Given the description of an element on the screen output the (x, y) to click on. 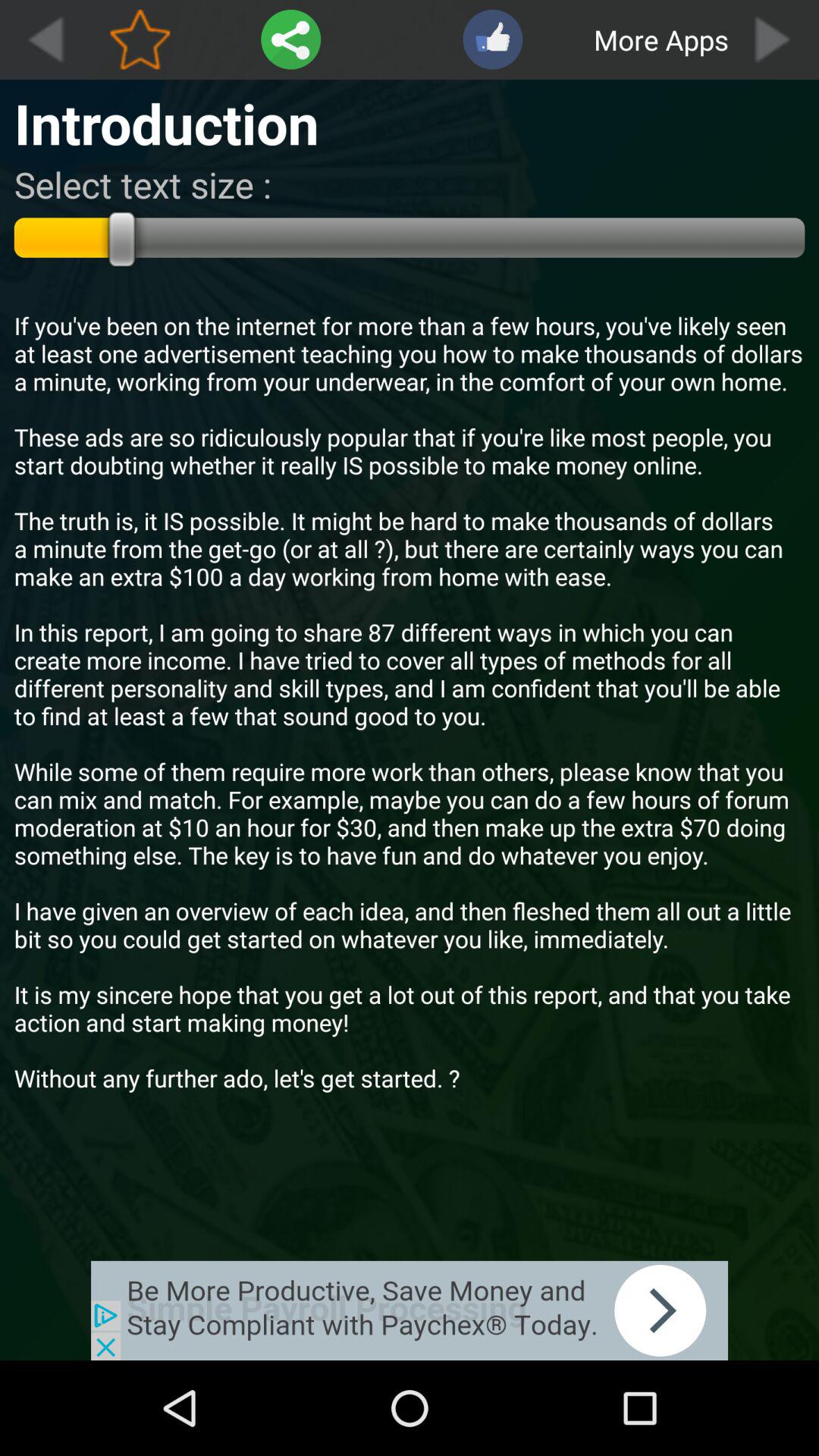
go to play (773, 39)
